Given the description of an element on the screen output the (x, y) to click on. 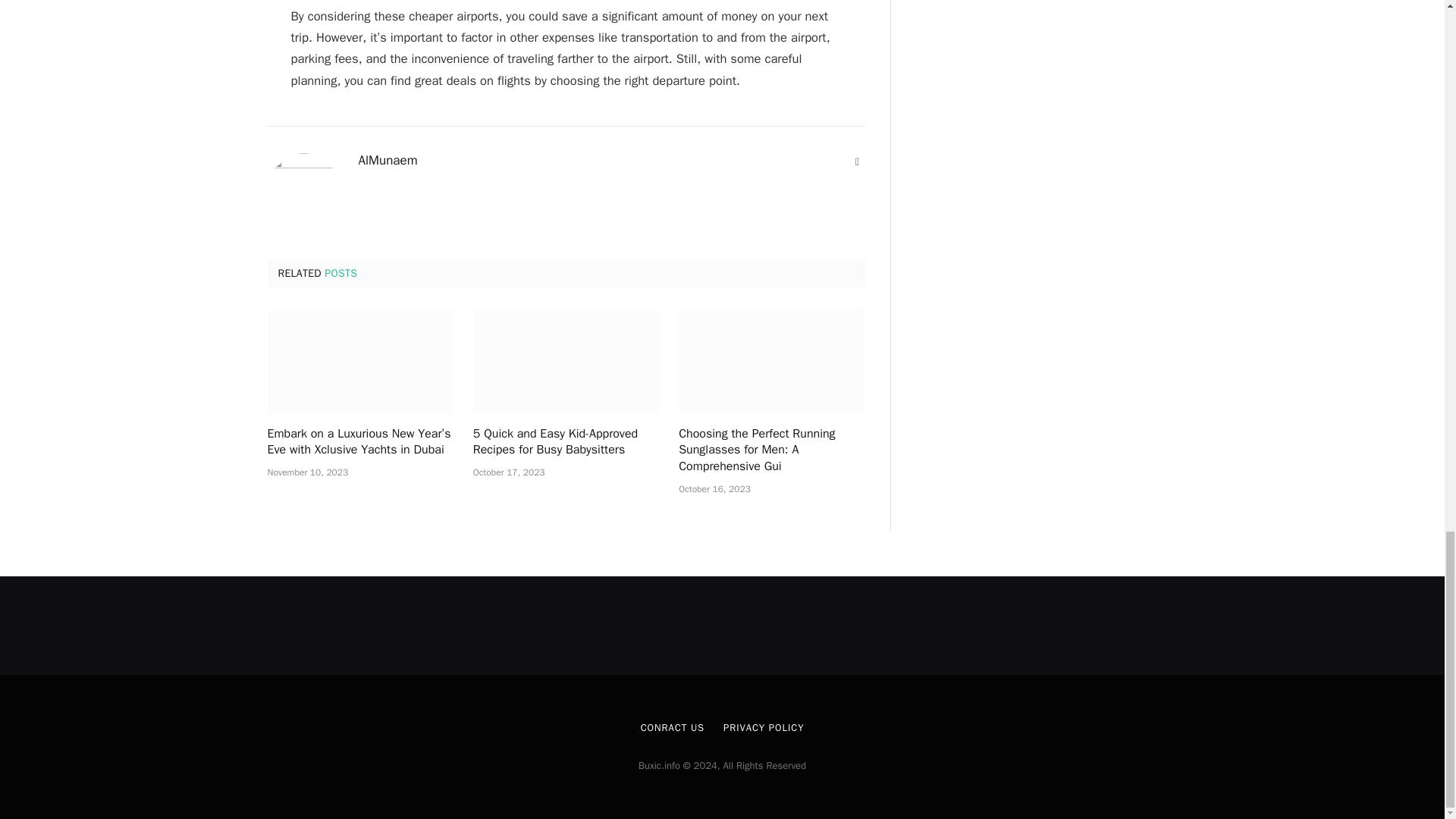
Website (856, 161)
Website (856, 161)
5 Quick and Easy Kid-Approved Recipes for Busy Babysitters (566, 442)
5 Quick and Easy Kid-Approved Recipes for Busy Babysitters (566, 361)
AlMunaem (387, 160)
Posts by AlMunaem (387, 160)
